Given the description of an element on the screen output the (x, y) to click on. 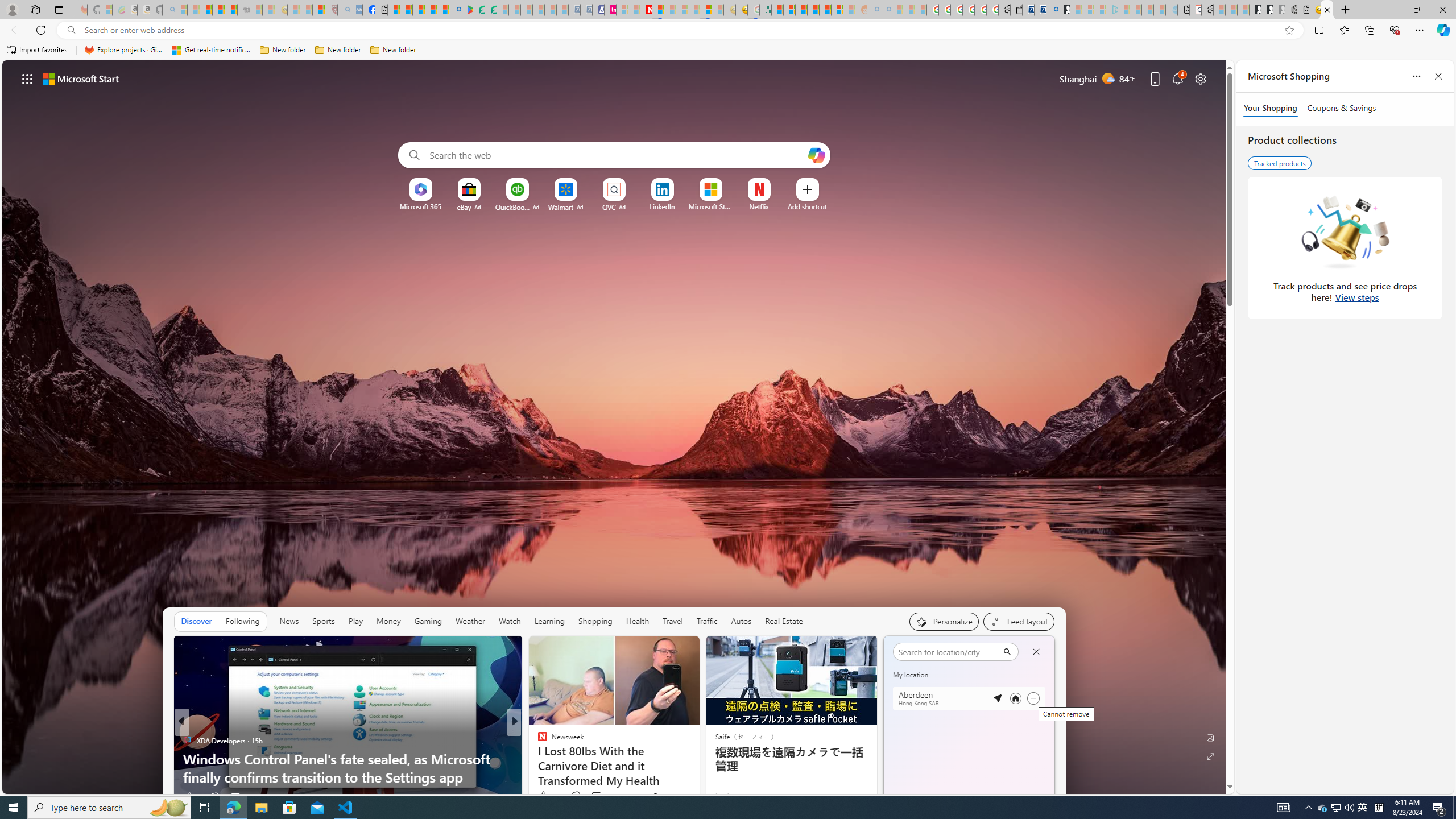
Favorites bar (728, 49)
XDA Developers (537, 758)
Terms of Use Agreement (478, 9)
